Given the description of an element on the screen output the (x, y) to click on. 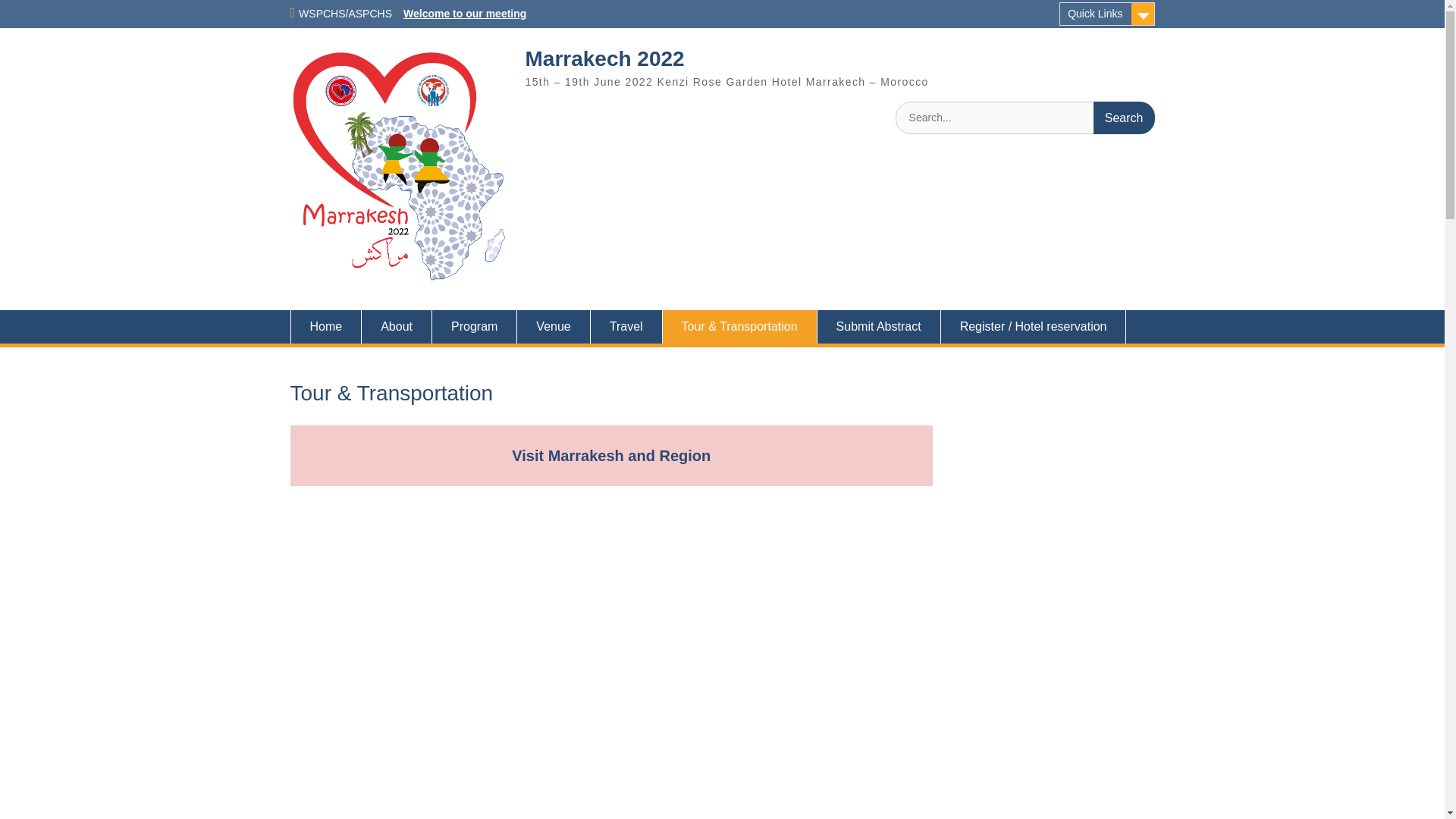
Quick Links (1106, 13)
Visit Marrakesh and Region (611, 455)
Search (1123, 117)
Submit Abstract (878, 326)
Home (325, 326)
Travel (626, 326)
Welcome to our meeting (464, 13)
Program (474, 326)
Search for: (1024, 117)
Search (1123, 117)
Marrakech 2022 (604, 58)
About (396, 326)
Venue (552, 326)
Search (1123, 117)
